Given the description of an element on the screen output the (x, y) to click on. 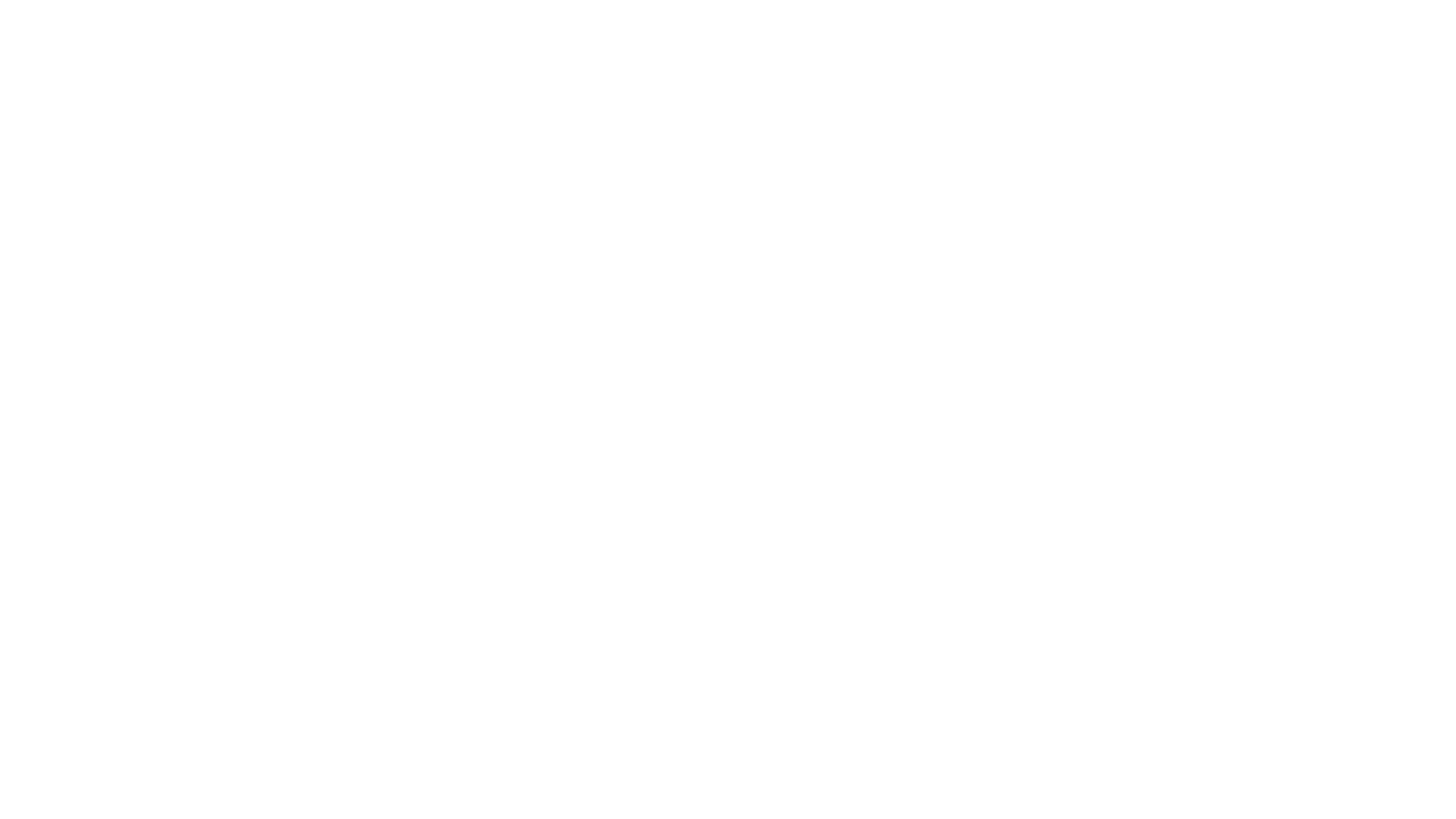
Admin Sign In Element type: text (352, 335)
AITC Canada Element type: text (339, 295)
AITC Ontario Resources Site Element type: hover (417, 42)
Homepage Element type: text (335, 271)
Login Element type: text (1120, 134)
My Favourites Element type: text (1037, 134)
